Given the description of an element on the screen output the (x, y) to click on. 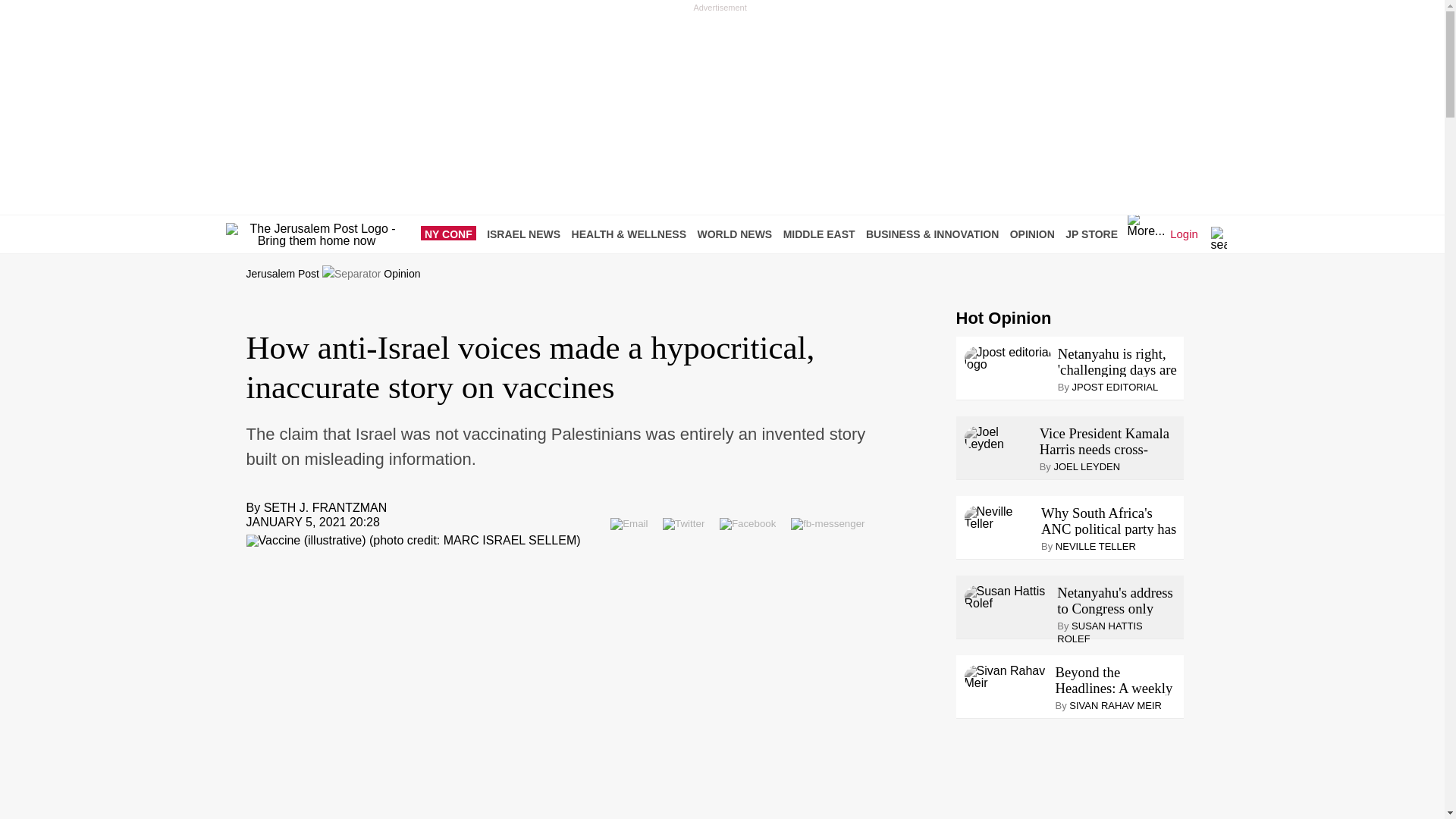
Opinion (402, 273)
Jerusalem Post (282, 273)
Neville Teller  (999, 517)
JP STORE (1095, 234)
OPINION (1036, 234)
WORLD NEWS (737, 234)
Opinion (402, 273)
Joel Leyden (998, 437)
Hot Opinion (1003, 317)
